Given the description of an element on the screen output the (x, y) to click on. 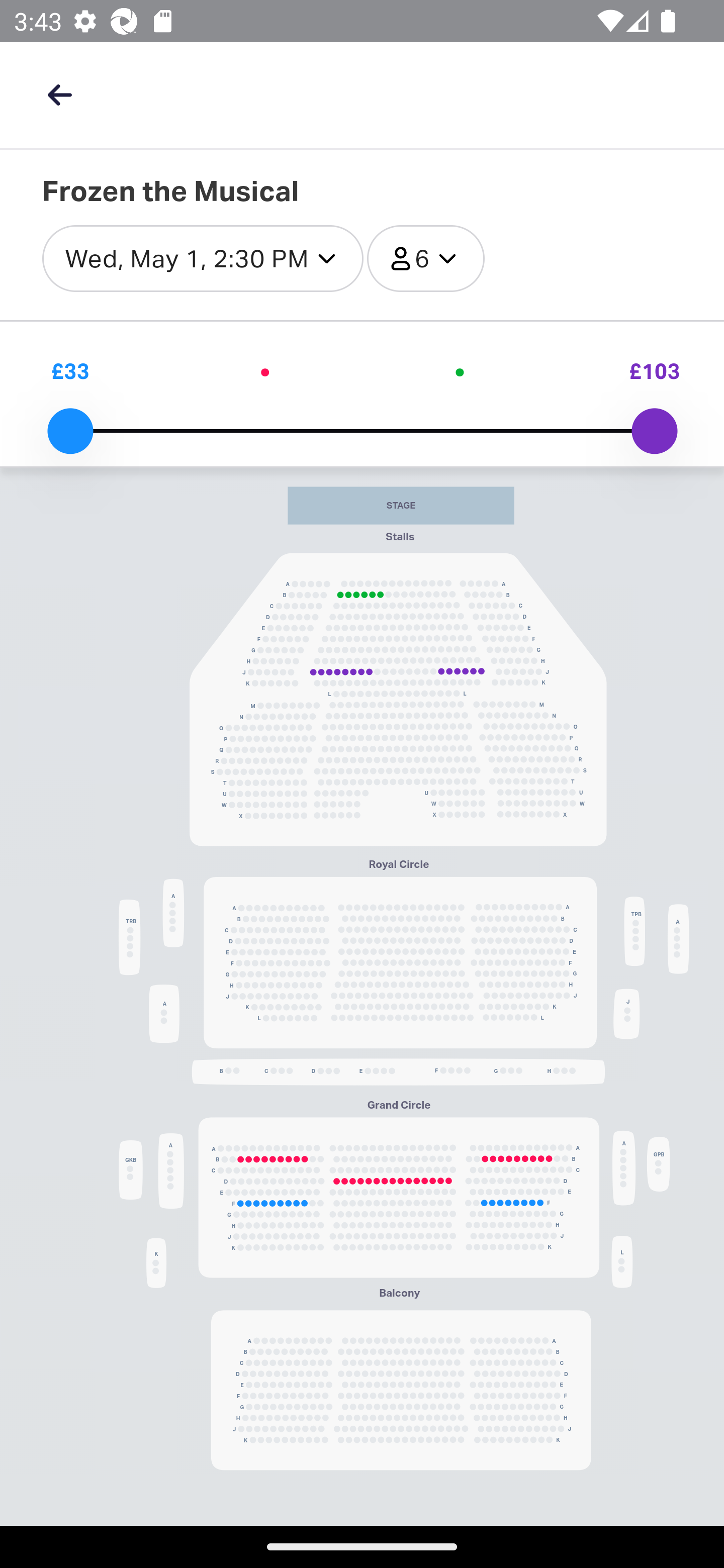
back button (59, 94)
Wed, May 1, 2:30 PM (202, 259)
6 (425, 259)
£33 (70, 370)
• (264, 370)
• (459, 370)
£103 (653, 370)
0.0 (69, 431)
100.0 (654, 431)
A B C D E F G H J K L A B C D E F G H J K L (399, 963)
A (173, 913)
TPB (633, 931)
TRB (128, 937)
A (677, 938)
A (164, 1013)
J (626, 1012)
H G F E D C B (397, 1070)
A B C D E F G H J K A B C D E F G H J K (397, 1197)
A (624, 1167)
A (170, 1171)
GPB (657, 1164)
GKB (130, 1170)
L (621, 1261)
K (156, 1262)
A B C D E F G H J K A B C D E F G H J K (400, 1389)
